Given the description of an element on the screen output the (x, y) to click on. 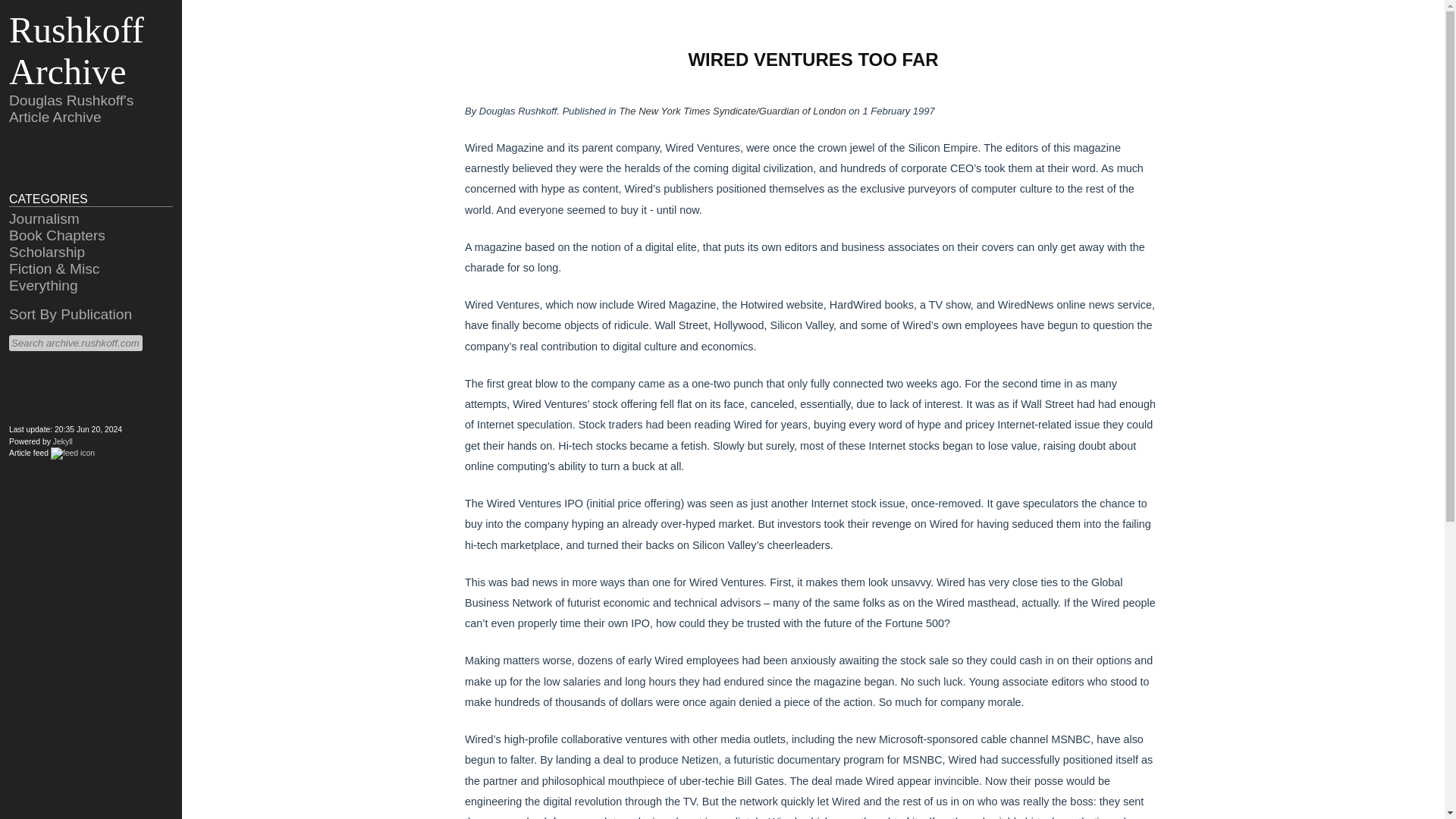
Sort By Publication (70, 314)
Scholarship (46, 252)
Everything (43, 285)
Book Chapters (56, 235)
Rushkoff Archive (76, 50)
Journalism (44, 218)
Jekyll (62, 441)
